Given the description of an element on the screen output the (x, y) to click on. 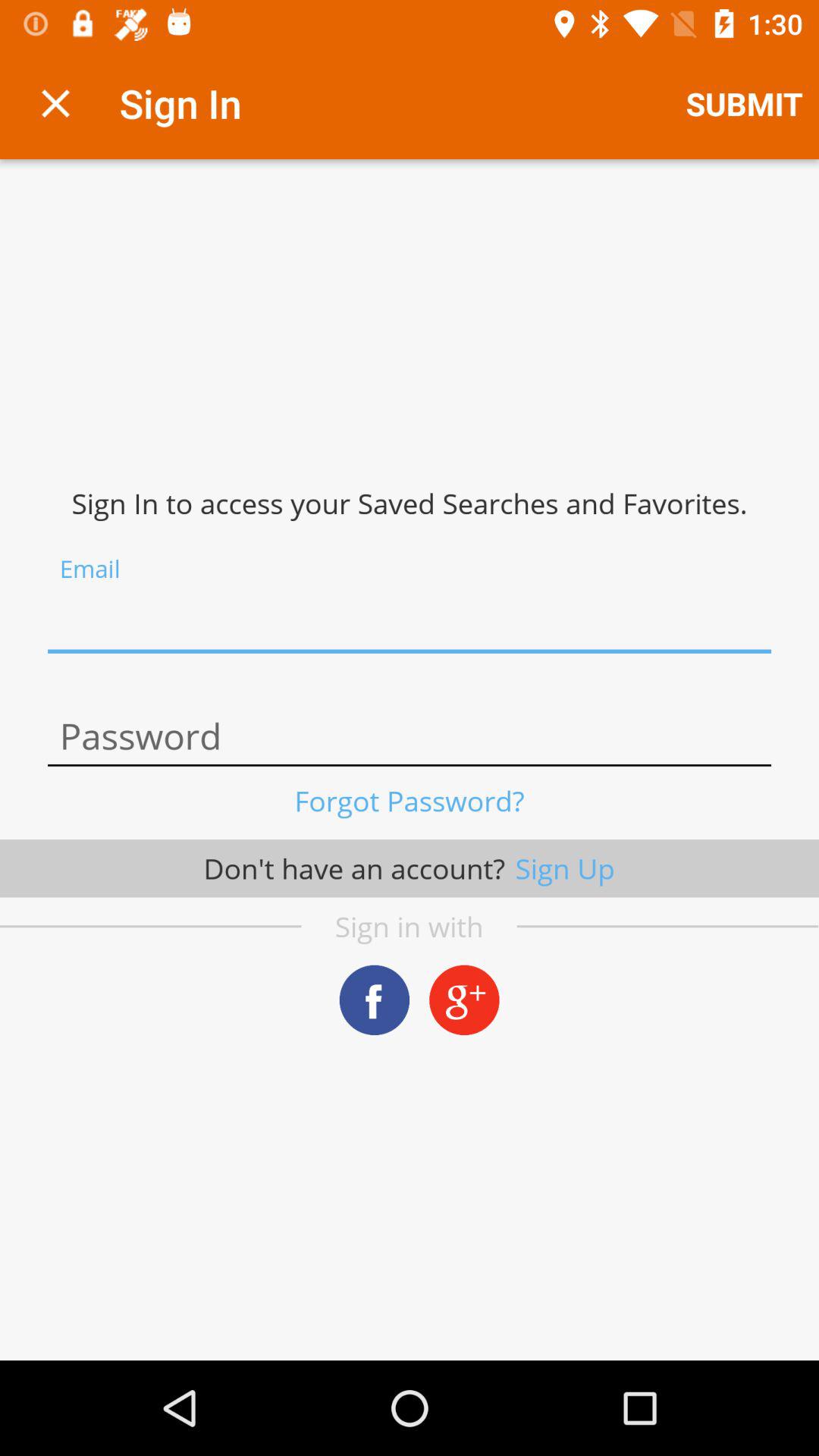
access facebook profile (374, 1000)
